Given the description of an element on the screen output the (x, y) to click on. 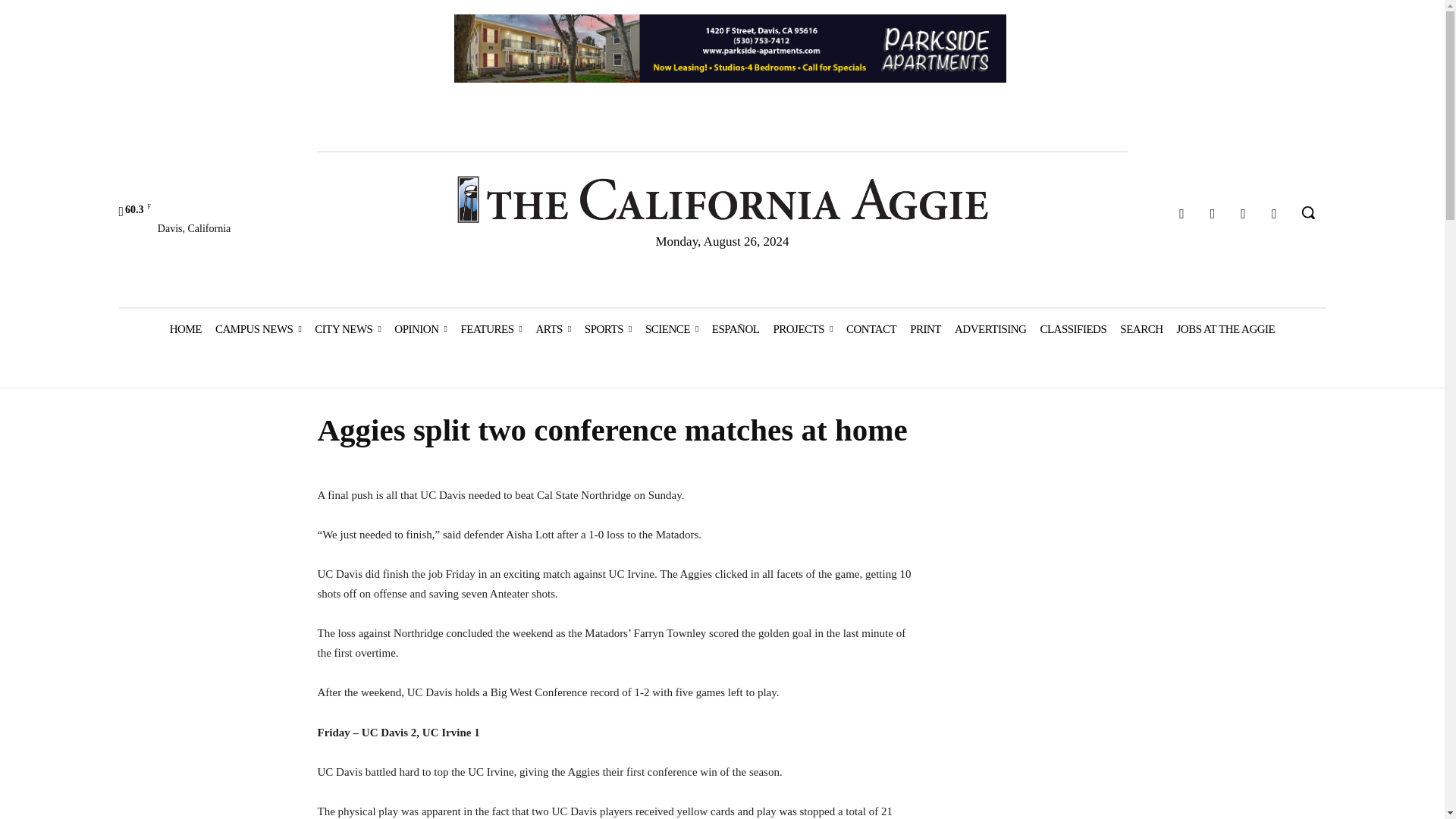
HOME (185, 329)
Twitter (1243, 214)
CAMPUS NEWS (257, 329)
Youtube (1273, 214)
Instagram (1212, 214)
Facebook (1181, 214)
